Given the description of an element on the screen output the (x, y) to click on. 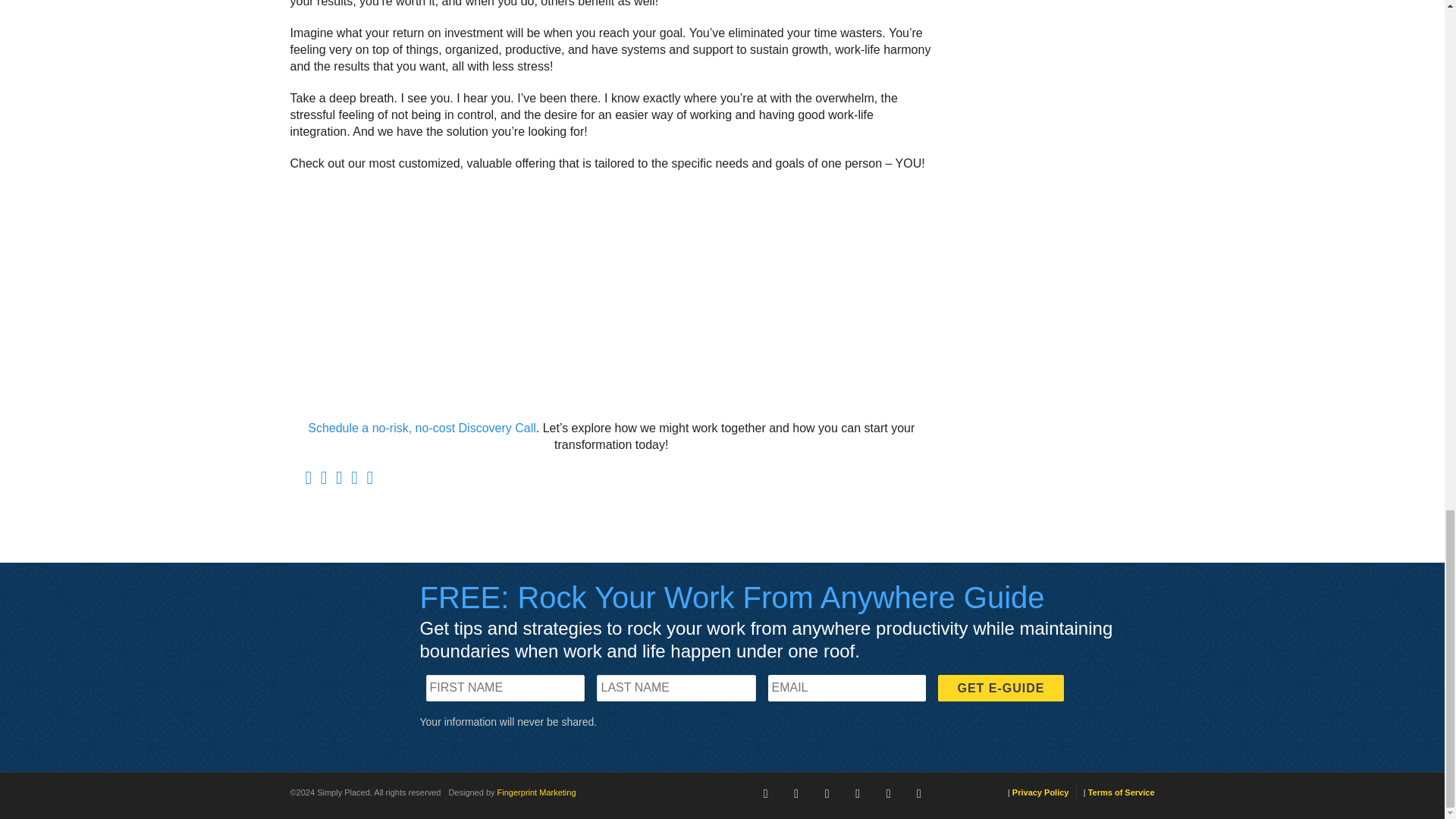
IAT 6 month Productivity Transformation package (611, 293)
Schedule a no-risk, no-cost Discovery Call (421, 427)
Privacy Policy (1044, 791)
GET E-GUIDE (999, 687)
Terms of Service (1120, 791)
GET E-GUIDE (999, 687)
